Given the description of an element on the screen output the (x, y) to click on. 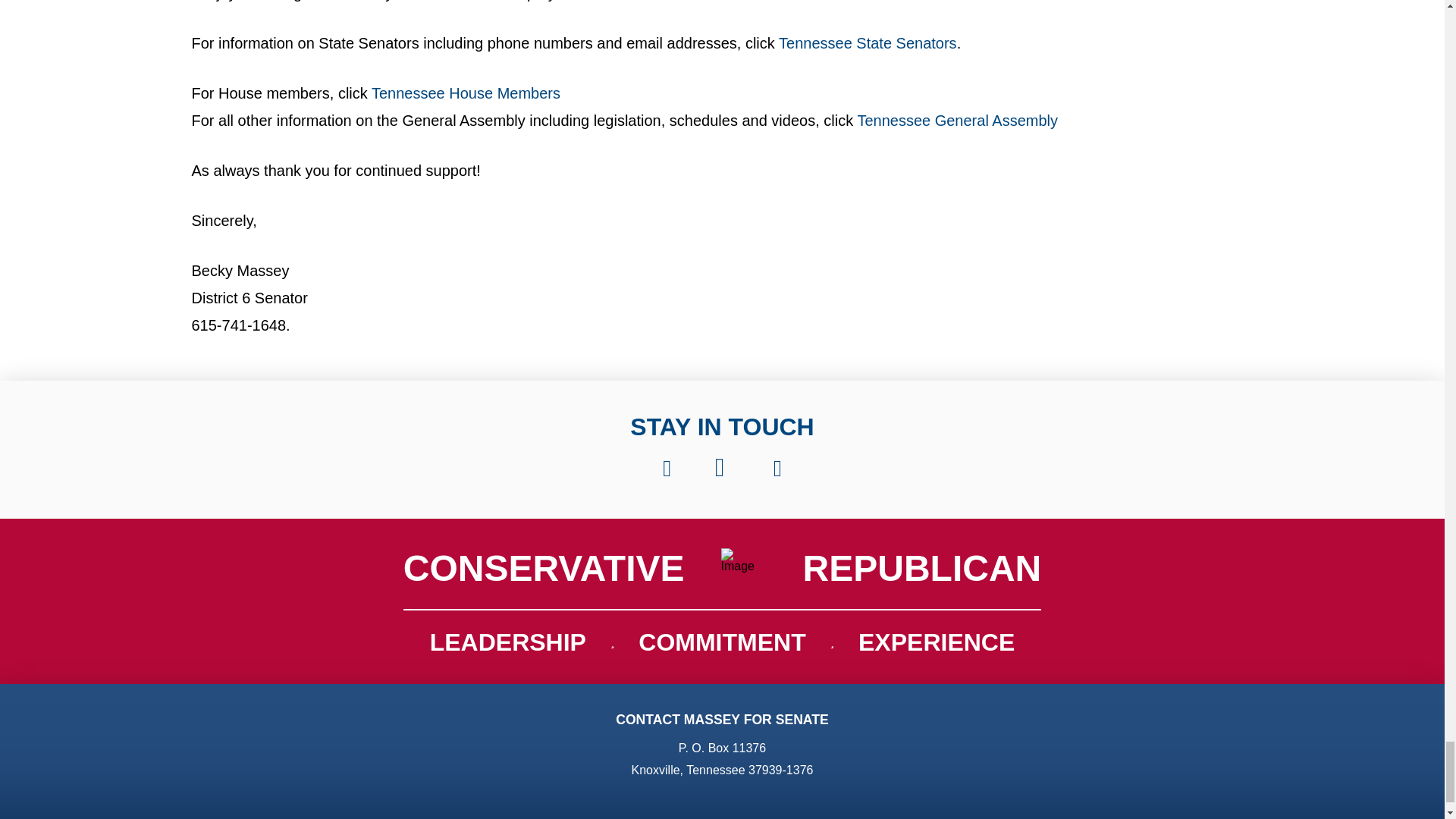
Tennessee General Assembly (957, 120)
Tennessee State Senators (867, 43)
Tennessee House Members (465, 93)
